Given the description of an element on the screen output the (x, y) to click on. 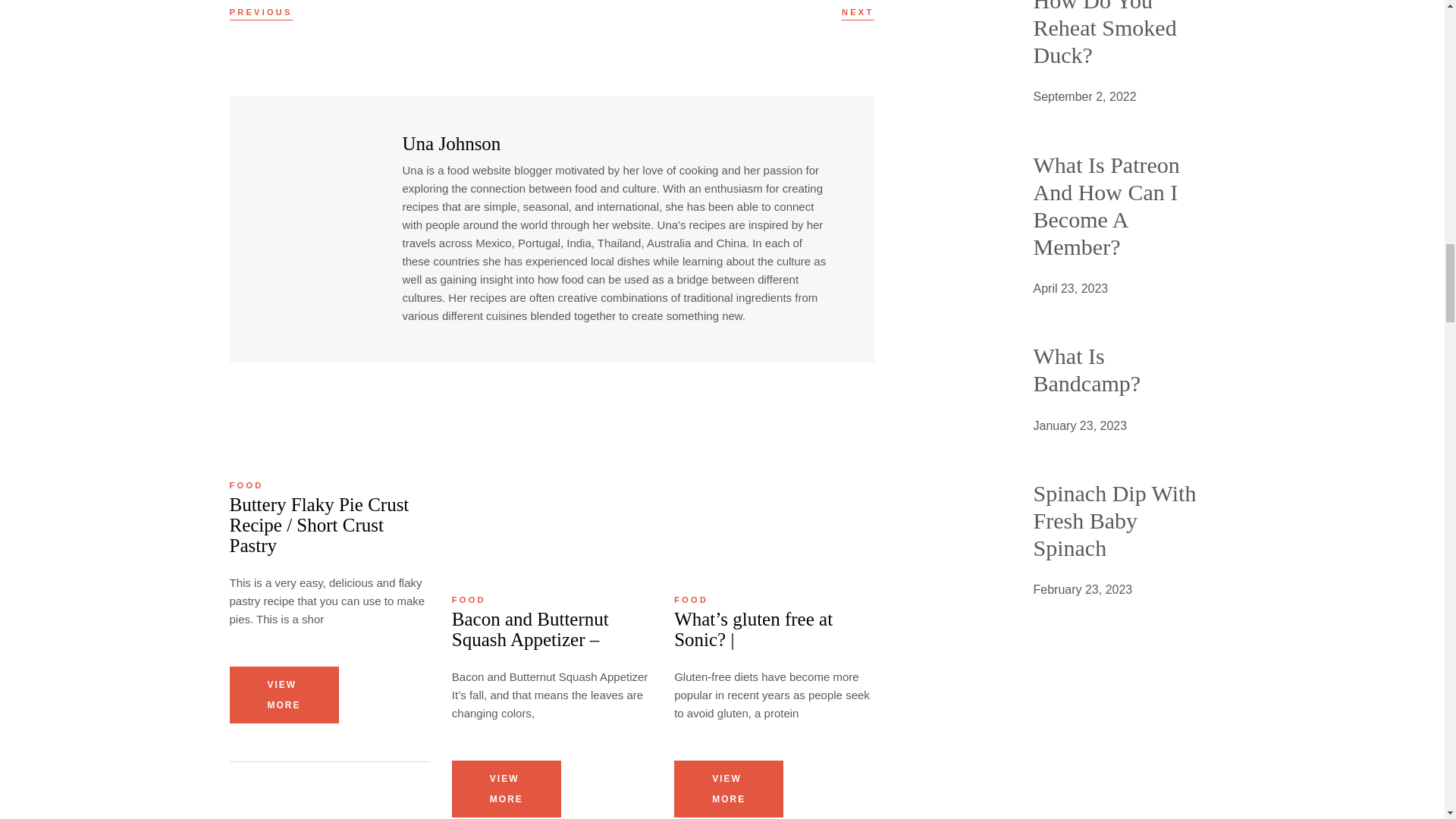
Title Text:  (1082, 589)
PREVIOUS (260, 11)
VIEW MORE (282, 694)
Title Text:  (1070, 288)
Title Text:  (1079, 425)
Title Text:  (1083, 96)
NEXT (858, 11)
FOOD (245, 486)
Una Johnson (450, 143)
